Given the description of an element on the screen output the (x, y) to click on. 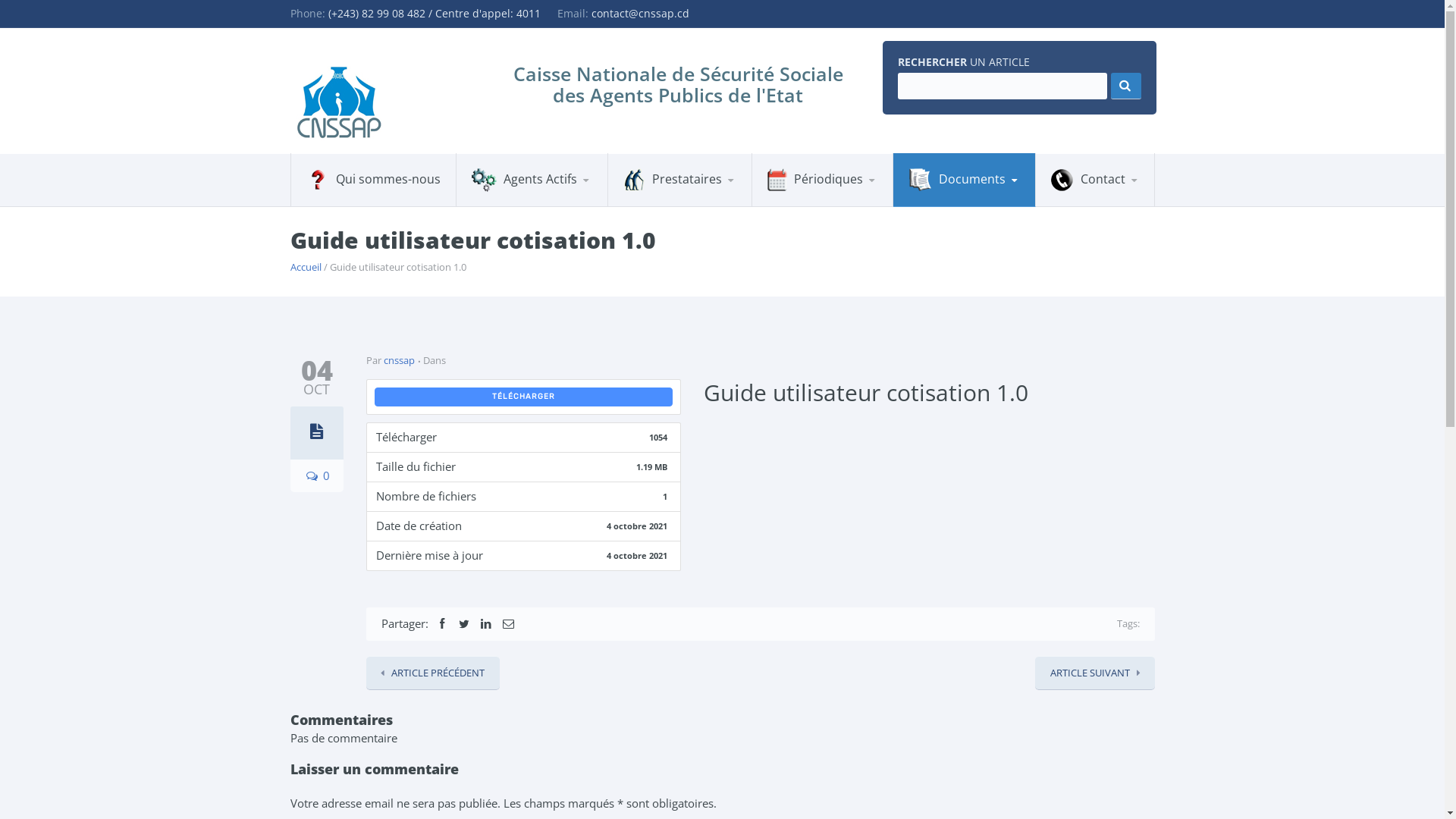
Qui sommes-nous Element type: text (373, 179)
cnssap Element type: text (398, 360)
Agents Actifs Element type: text (531, 179)
contact@cnssap.cd Element type: text (640, 13)
Documents Element type: text (964, 179)
Contact Element type: text (1094, 179)
0 Element type: text (316, 475)
Accueil Element type: text (304, 266)
Prestataires Element type: text (679, 179)
(+243) 82 99 08 482 / Centre d'appel: 4011 Element type: text (433, 13)
ARTICLE SUIVANT Element type: text (1094, 672)
